Given the description of an element on the screen output the (x, y) to click on. 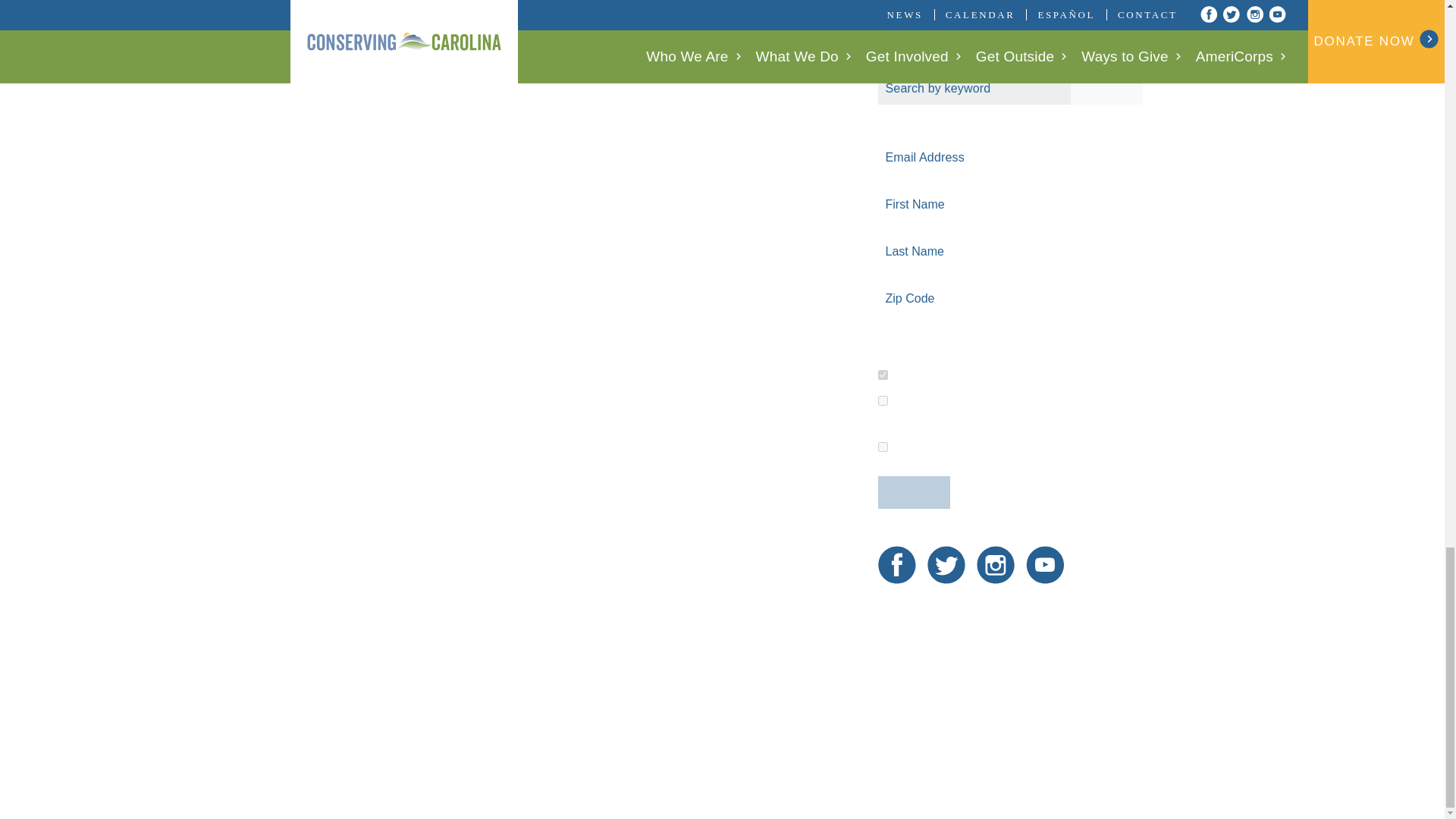
bf404fa0-183f-11e9-858d-d4ae529a848a (882, 400)
Visit Conserving Carolina on Instagram (995, 564)
ae981700-183f-11e9-858d-d4ae529a848a (882, 447)
Search (1106, 88)
Visit Conserving Carolina on YouTube (1045, 564)
SUBSCRIBE (913, 491)
Search (1106, 88)
c3fd32a0-b885-11e5-855a-d4ae52733d3a (882, 375)
Visit Conserving Carolina on Facebook (896, 564)
Visit Conserving Carolina on Twitter (946, 564)
